Given the description of an element on the screen output the (x, y) to click on. 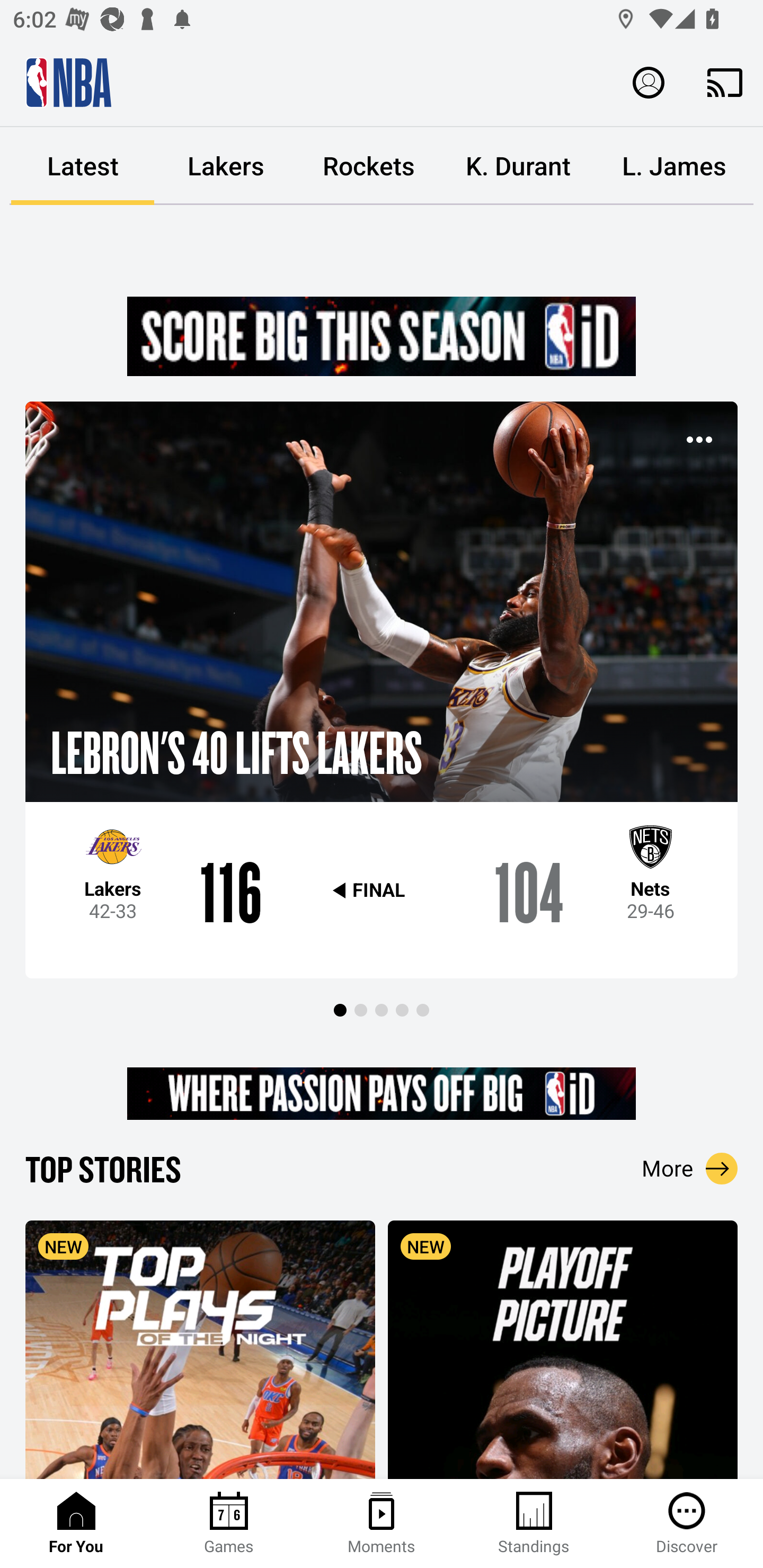
Cast. Disconnected (724, 82)
Profile (648, 81)
Lakers (225, 166)
Rockets (368, 166)
K. Durant (518, 166)
L. James (673, 166)
TOP STORIES More NEW NEW (381, 1311)
More (689, 1167)
NEW (200, 1348)
NEW (562, 1348)
Games (228, 1523)
Moments (381, 1523)
Standings (533, 1523)
Discover (686, 1523)
